Given the description of an element on the screen output the (x, y) to click on. 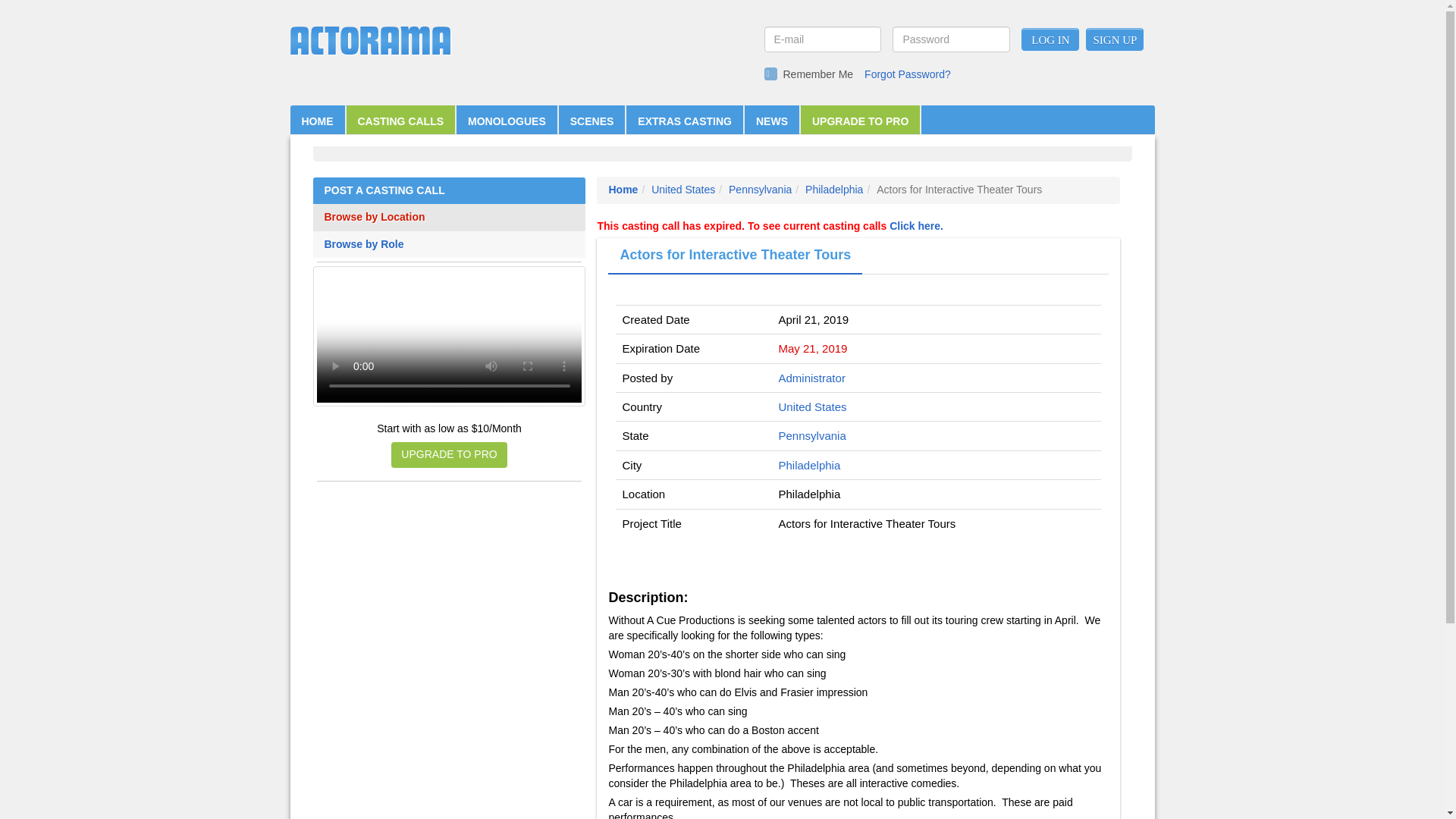
Actors for Interactive Theater Tours (734, 256)
Click here. (916, 225)
Home (622, 189)
NEWS (771, 121)
Browse by Location (449, 216)
Philadelphia (834, 189)
Sign Up (1114, 38)
Pennsylvania (811, 435)
HOME (316, 121)
Administrator (811, 377)
EXTRAS CASTING (684, 121)
Actorama (369, 40)
Forgot Password? (907, 73)
CASTING CALLS (400, 121)
POST A CASTING CALL (449, 190)
